Given the description of an element on the screen output the (x, y) to click on. 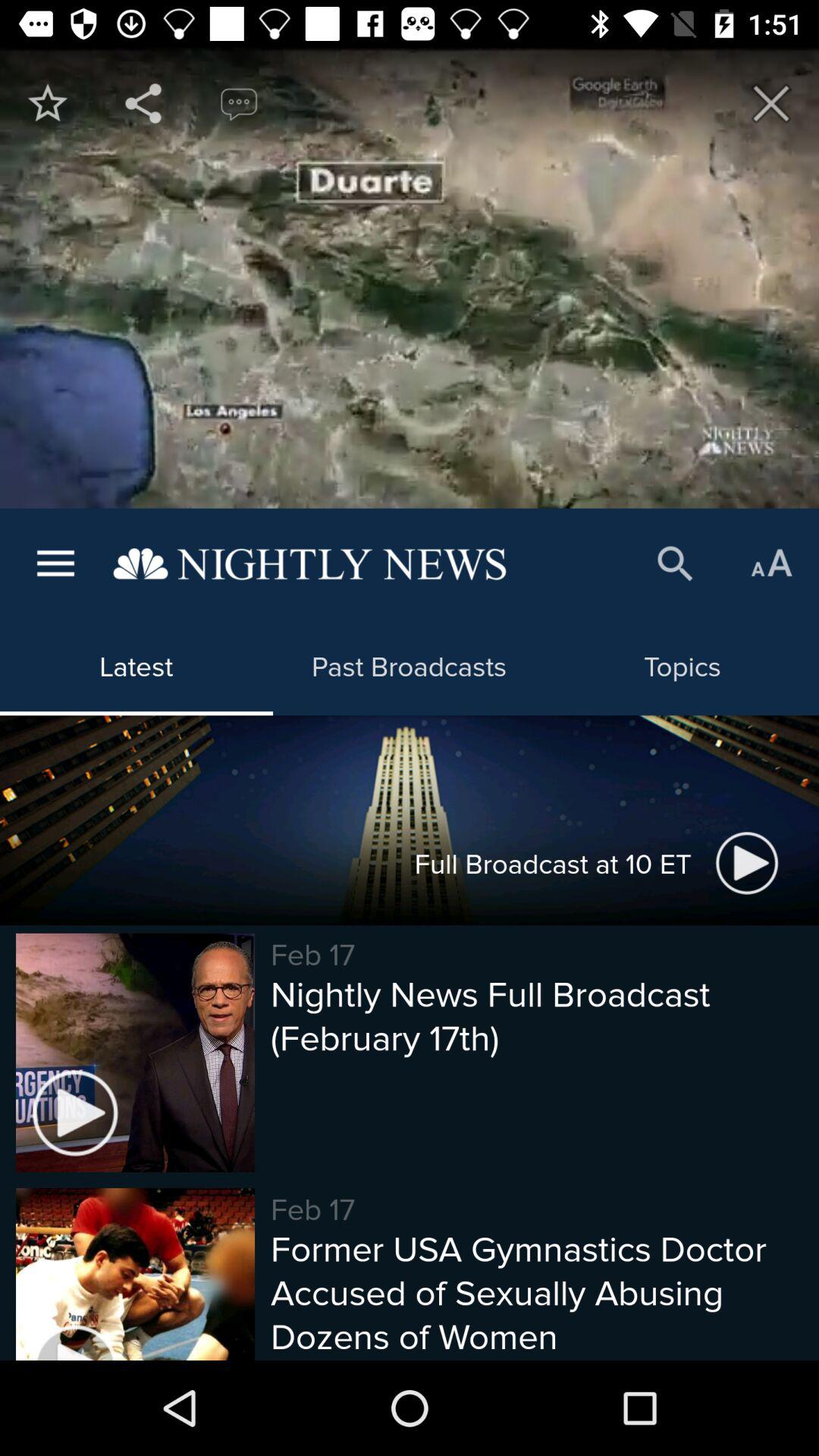
turn on item above topics (771, 563)
